Given the description of an element on the screen output the (x, y) to click on. 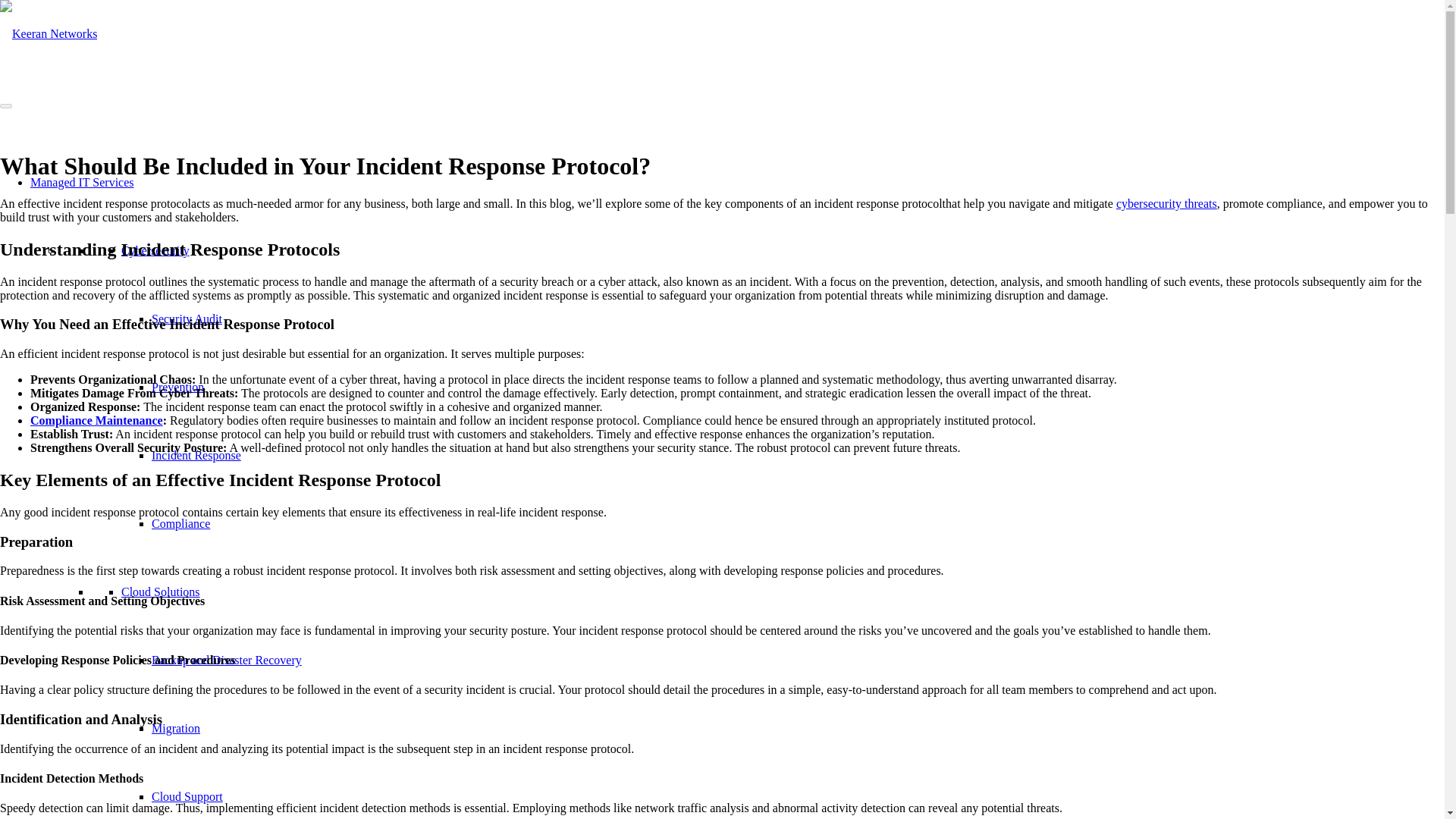
Prevention (177, 386)
Migration (175, 727)
Compliance (180, 522)
Managed IT Services (81, 182)
Cloud Solutions (160, 591)
Security Audit (186, 318)
Backup and Disaster Recovery (226, 659)
Cloud Support (186, 796)
Cybersecurity (154, 250)
Incident Response (196, 454)
